Given the description of an element on the screen output the (x, y) to click on. 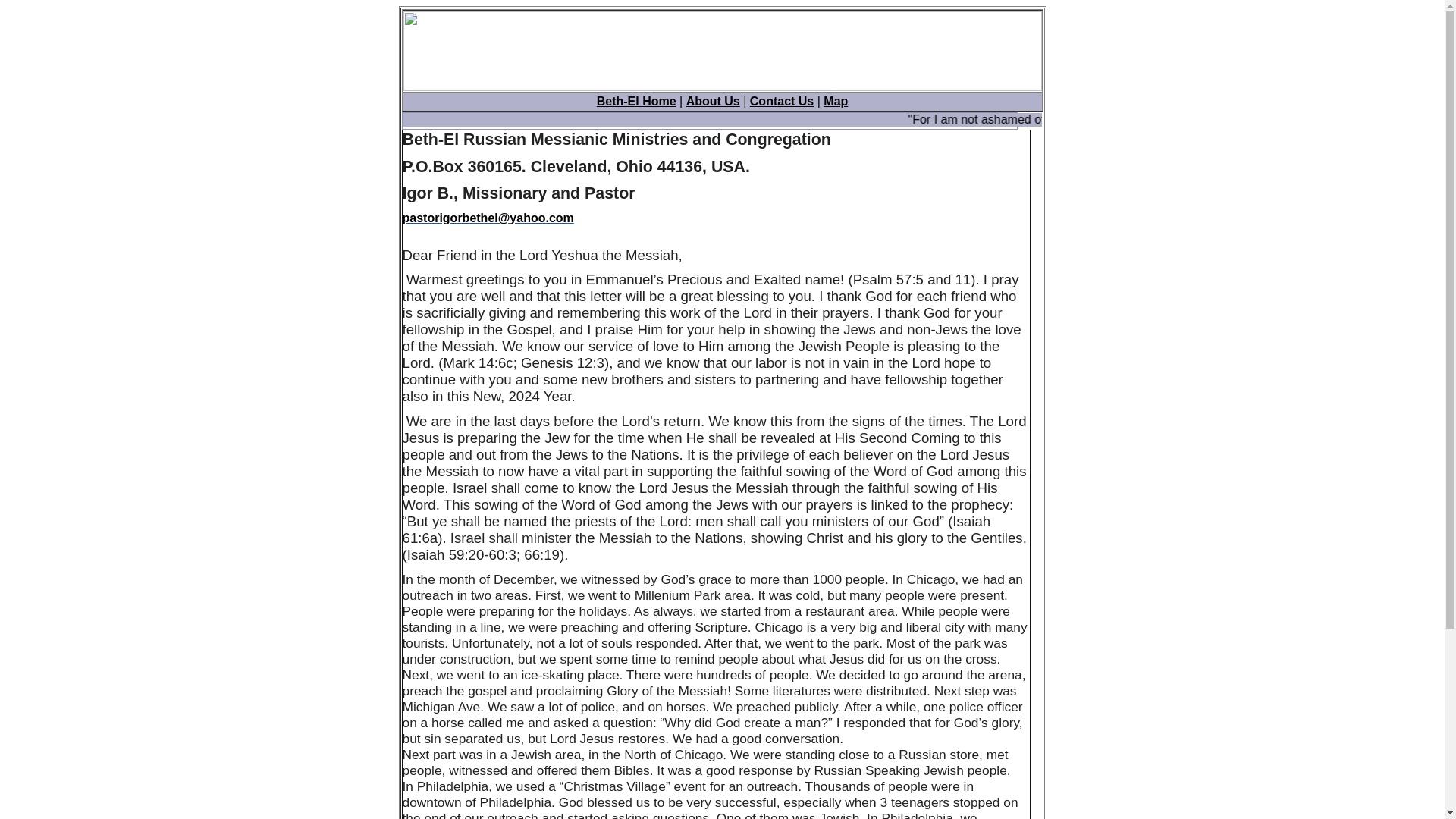
About Us (712, 101)
Contact Us (781, 101)
Beth-El Home (636, 101)
Map (835, 101)
